Given the description of an element on the screen output the (x, y) to click on. 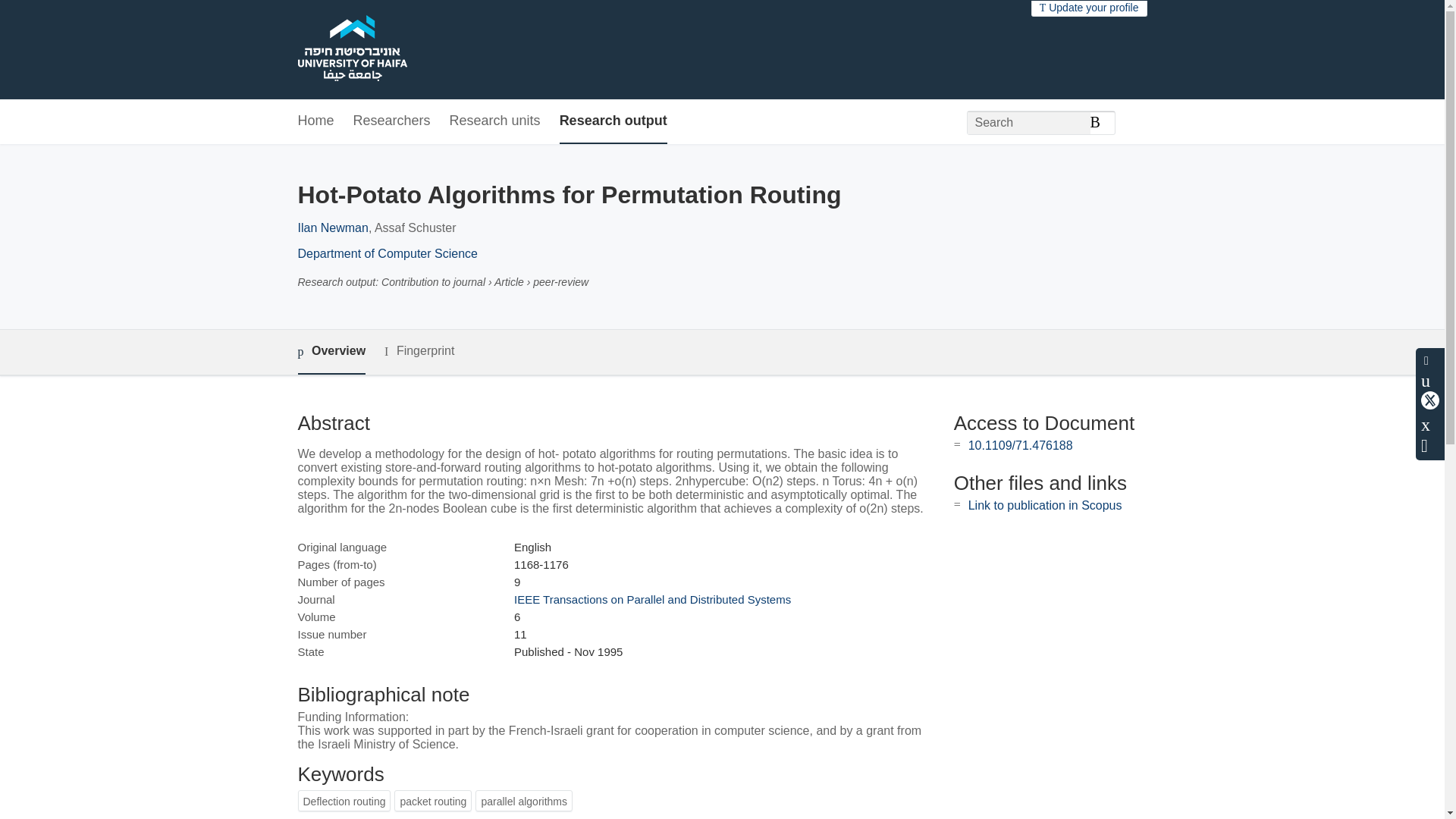
Link to publication in Scopus (1045, 504)
Researchers (391, 121)
IEEE Transactions on Parallel and Distributed Systems (651, 599)
Research units (494, 121)
Overview (331, 352)
Update your profile (1089, 7)
University of Haifa Home (351, 49)
Department of Computer Science (387, 253)
Ilan Newman (332, 227)
Research output (612, 121)
Fingerprint (419, 351)
